Given the description of an element on the screen output the (x, y) to click on. 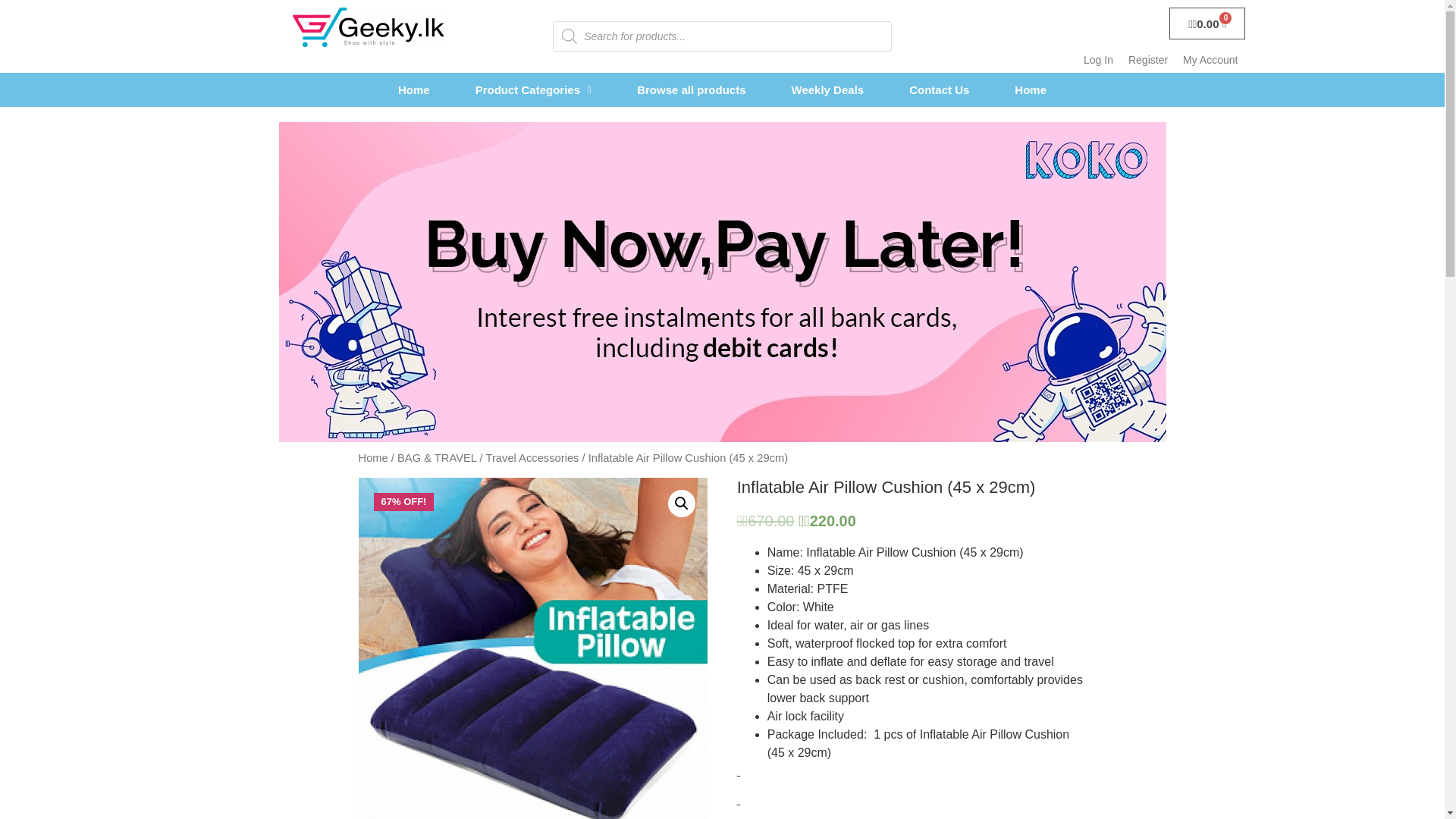
Register (1147, 59)
Home (1029, 89)
Product Categories (533, 89)
Weekly Deals (827, 89)
My Account (1209, 59)
Contact Us (938, 89)
Log In (1098, 59)
Travel Accessories (531, 458)
Home (372, 458)
Browse all products (691, 89)
Home (413, 89)
1 (532, 648)
